Given the description of an element on the screen output the (x, y) to click on. 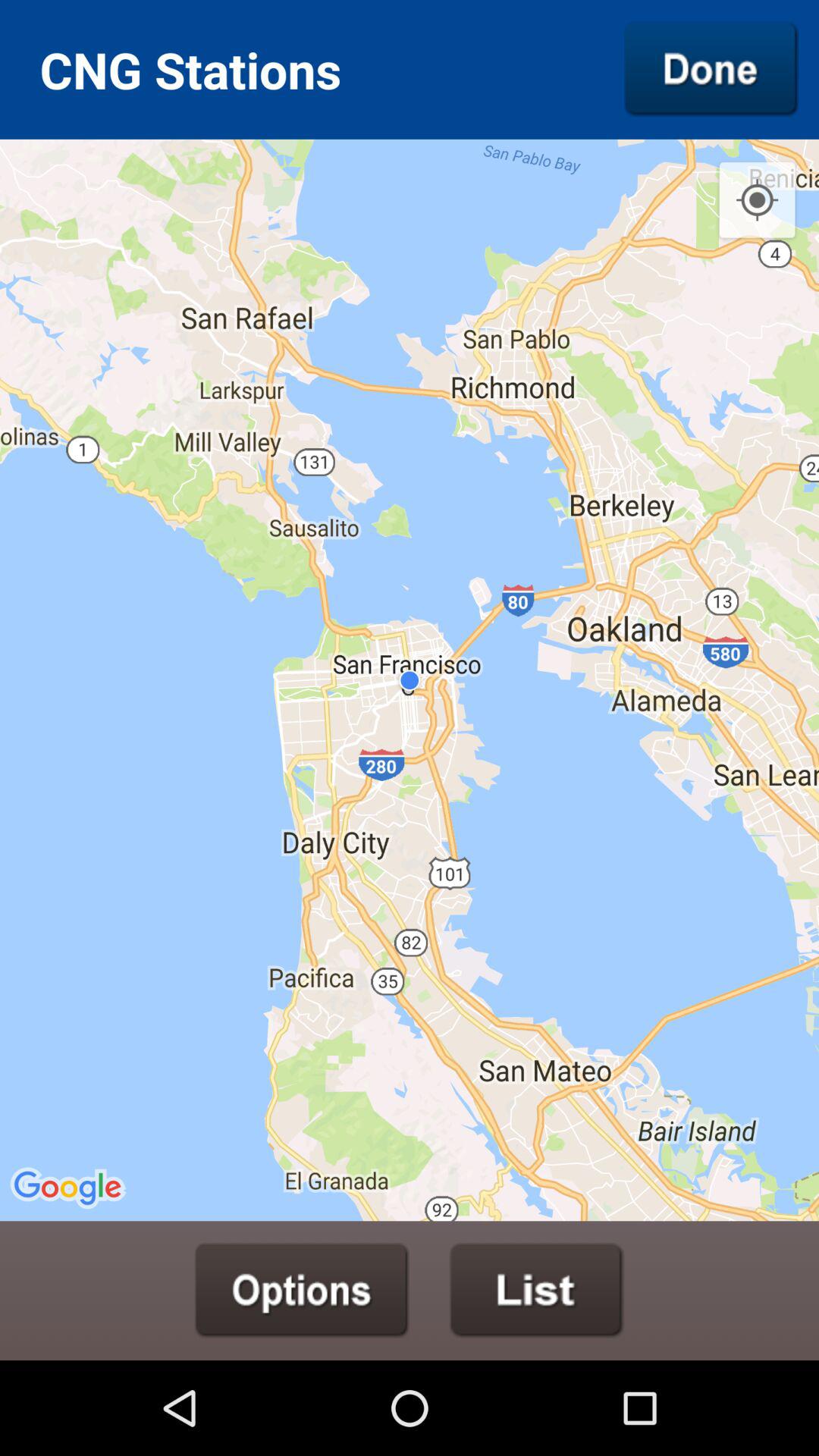
open the item at the center (409, 680)
